Given the description of an element on the screen output the (x, y) to click on. 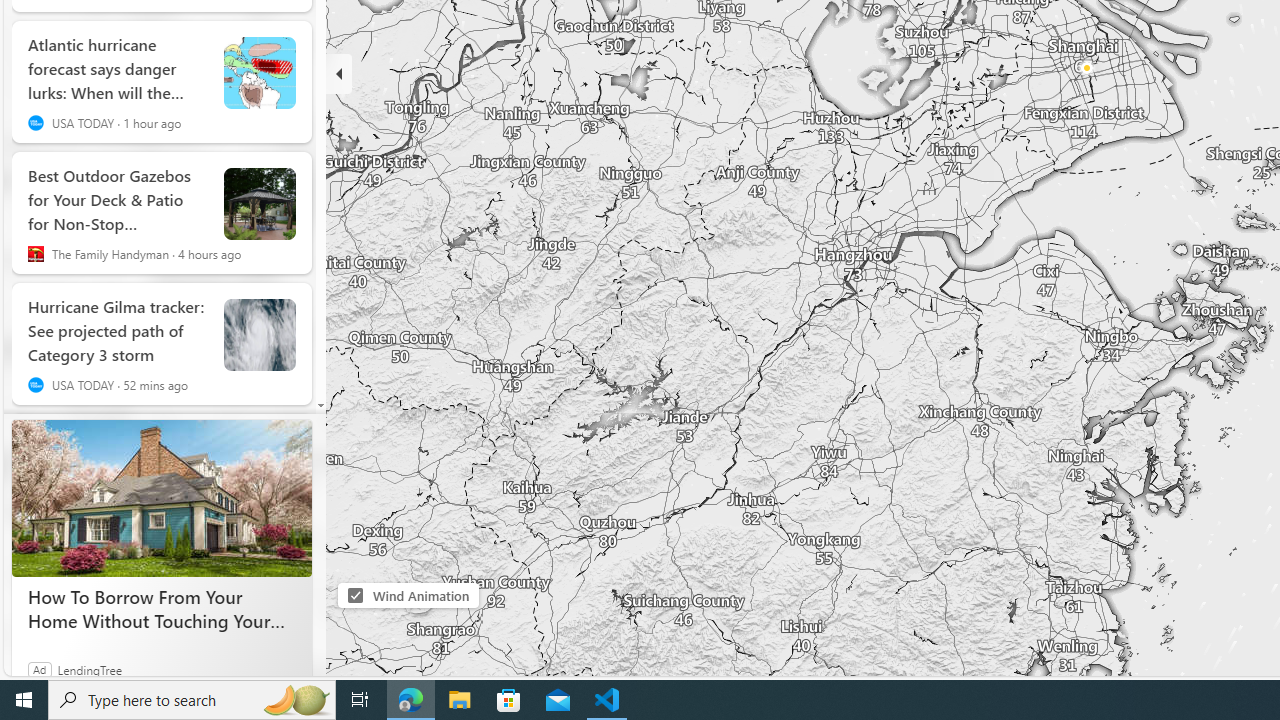
USA TODAY (35, 385)
Hide (339, 73)
The Family Handyman (35, 254)
LendingTree (89, 669)
Wind Animation (355, 595)
